Given the description of an element on the screen output the (x, y) to click on. 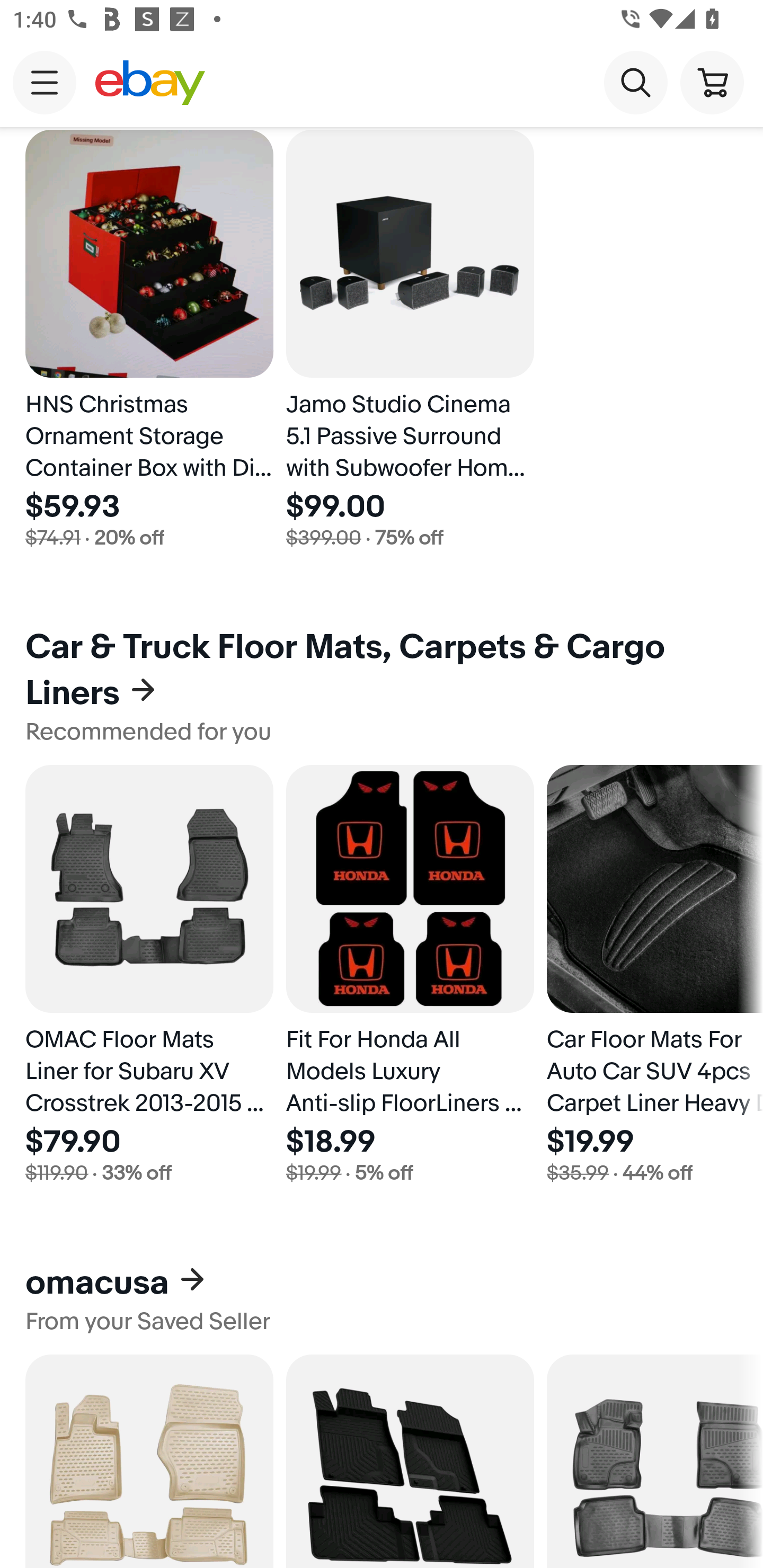
Main navigation, open (44, 82)
Search (635, 81)
Cart button shopping cart (711, 81)
omacusa   From your Saved Seller (381, 1298)
